Given the description of an element on the screen output the (x, y) to click on. 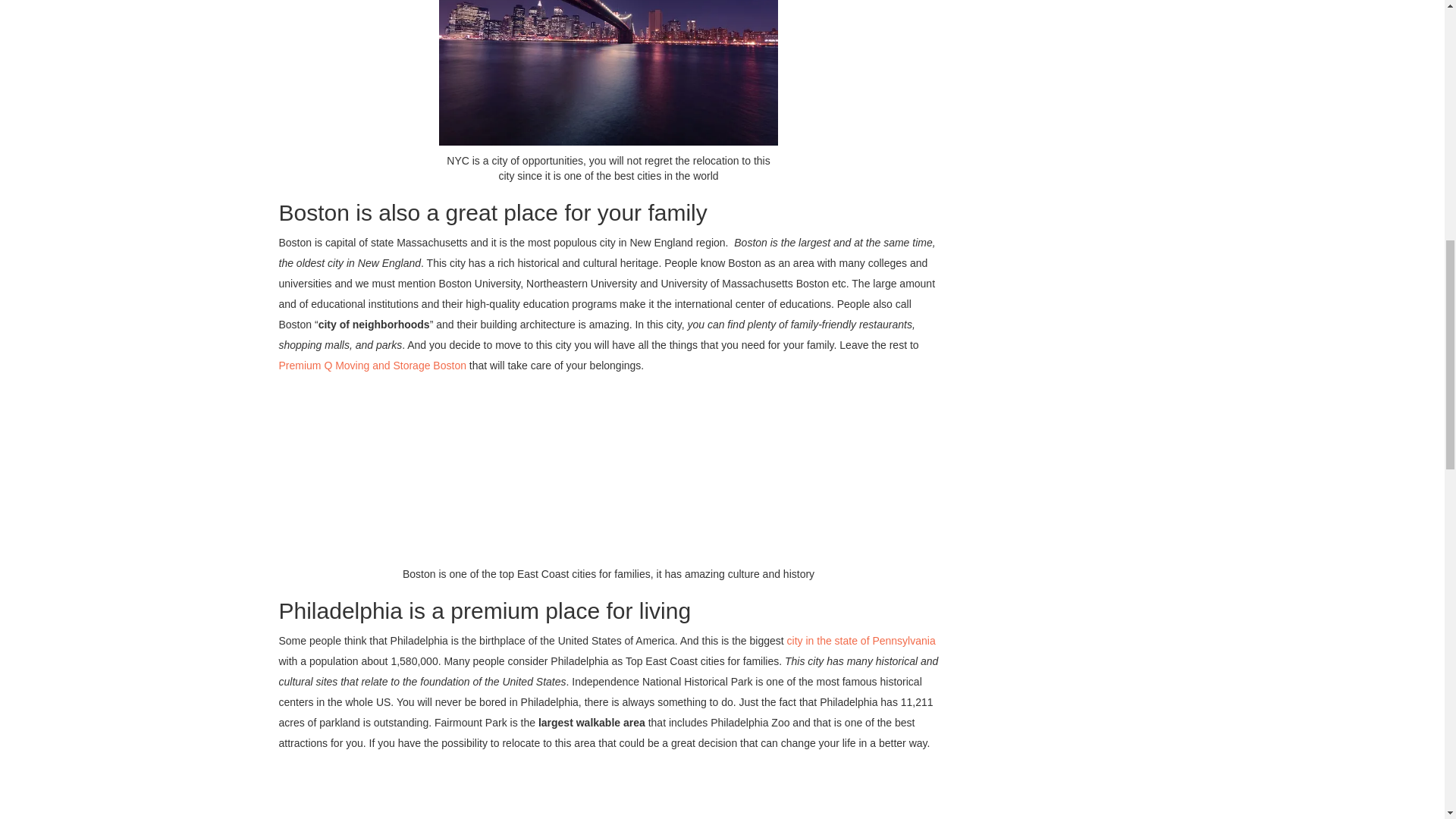
Premium Q Moving and Storage Boston (372, 365)
city in the state of Pennsylvania (861, 640)
